Given the description of an element on the screen output the (x, y) to click on. 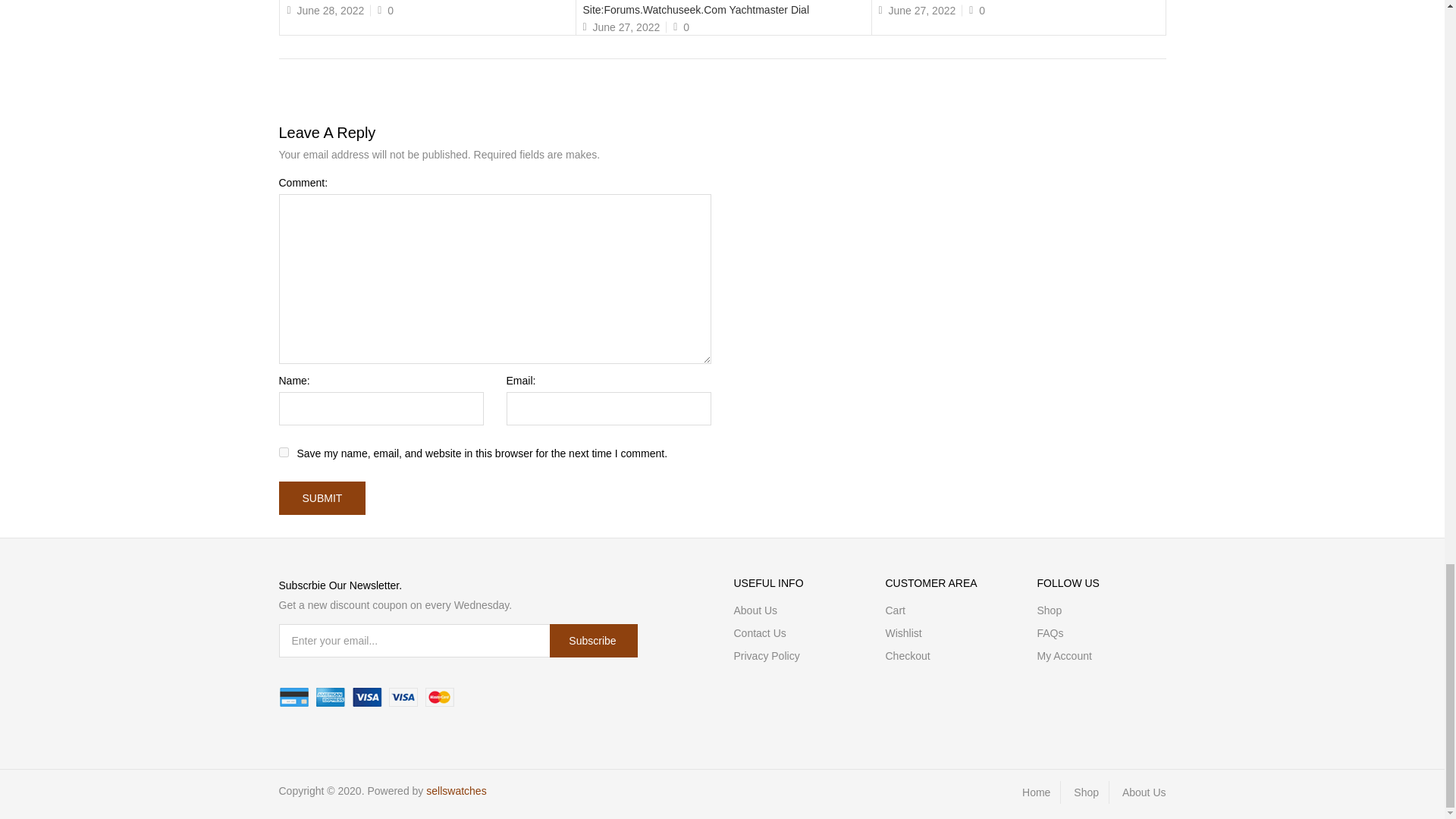
payments (366, 696)
yes (283, 452)
subscribe (593, 640)
submit (322, 498)
